Given the description of an element on the screen output the (x, y) to click on. 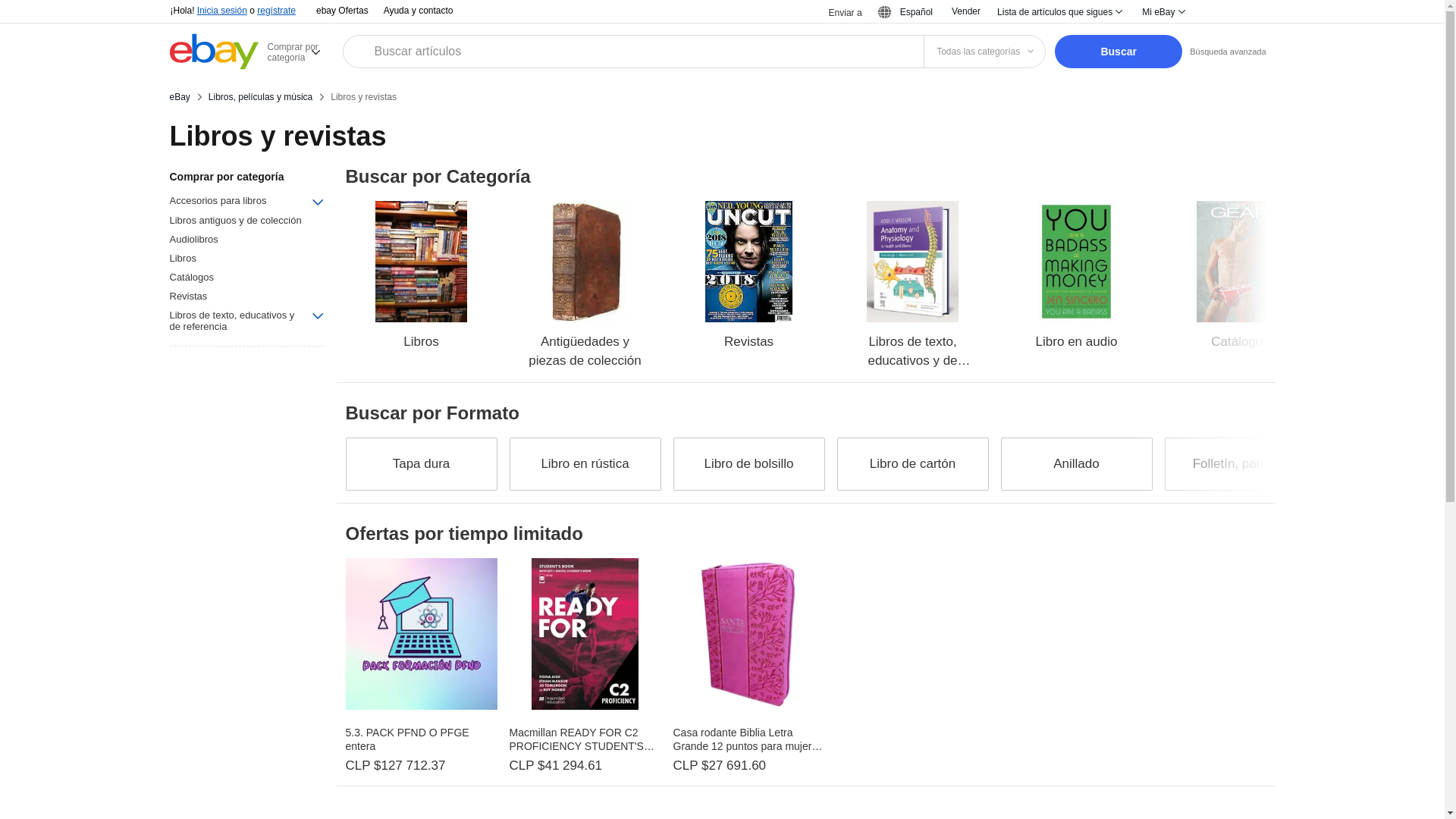
Notifications (1216, 11)
Buscar (1118, 51)
Enviar a (836, 11)
Mi eBay (1162, 12)
